Given the description of an element on the screen output the (x, y) to click on. 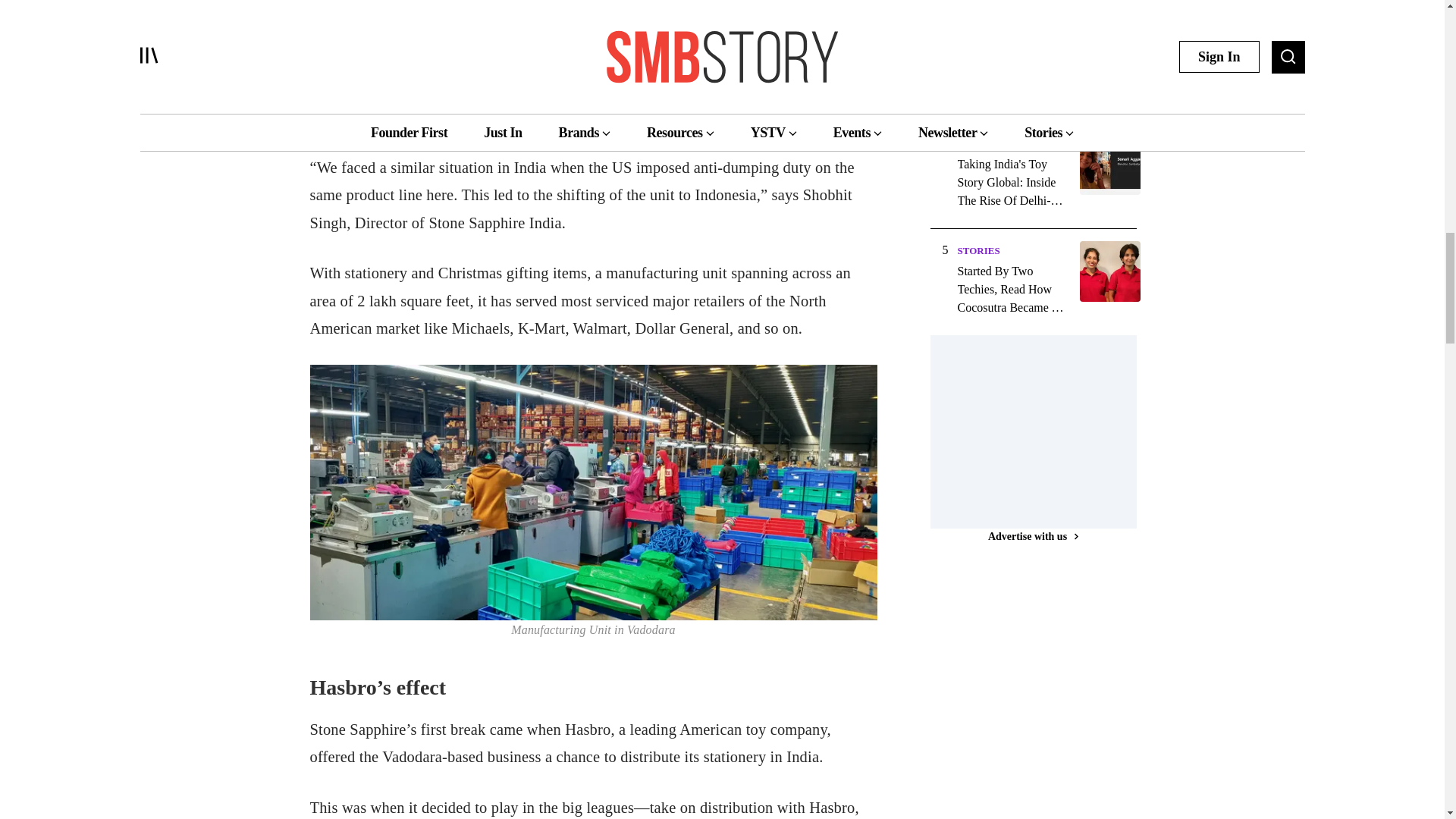
STORIES (977, 250)
STORIES (977, 143)
STORIES (977, 36)
3rd party ad content (1043, 429)
